Given the description of an element on the screen output the (x, y) to click on. 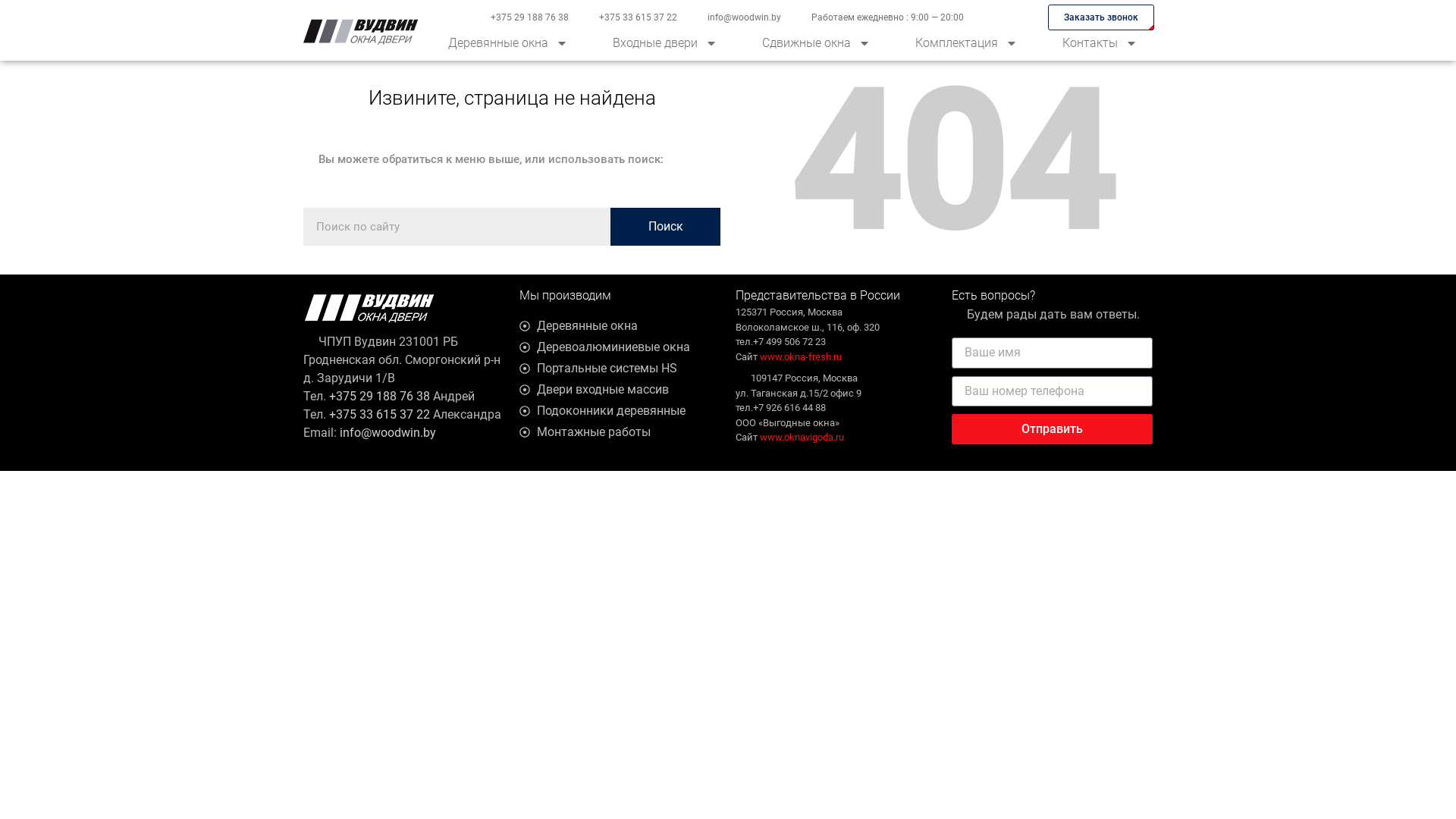
+375 29 188 76 38 Element type: text (379, 396)
info@woodwin.by Element type: text (744, 17)
www.okna-fresh.ru Element type: text (800, 355)
info@woodwin.by Element type: text (387, 432)
www.oknavigoda.ru Element type: text (801, 436)
+375 29 188 76 38 Element type: text (529, 17)
+375 33 615 37 22 Element type: text (379, 414)
BACK TO HOMEPAGE Element type: text (219, 37)
+375 33 615 37 22 Element type: text (637, 17)
